Given the description of an element on the screen output the (x, y) to click on. 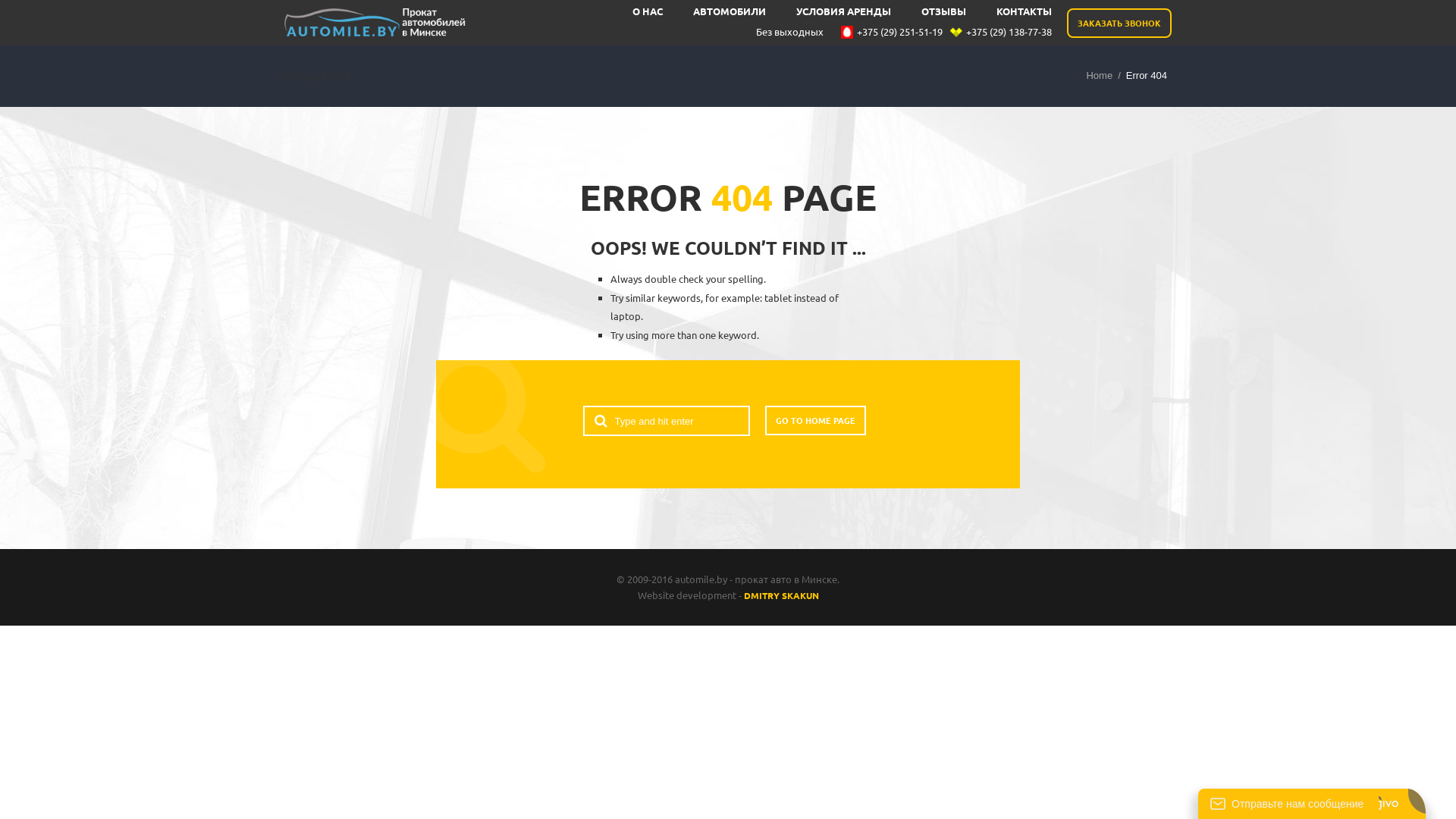
DMITRY SKAKUN Element type: text (780, 595)
GO TO HOME PAGE Element type: text (814, 420)
+375 (29) 138-77-38 Element type: text (996, 31)
Home Element type: text (1098, 75)
+375 (29) 251-51-19 Element type: text (891, 31)
